Given the description of an element on the screen output the (x, y) to click on. 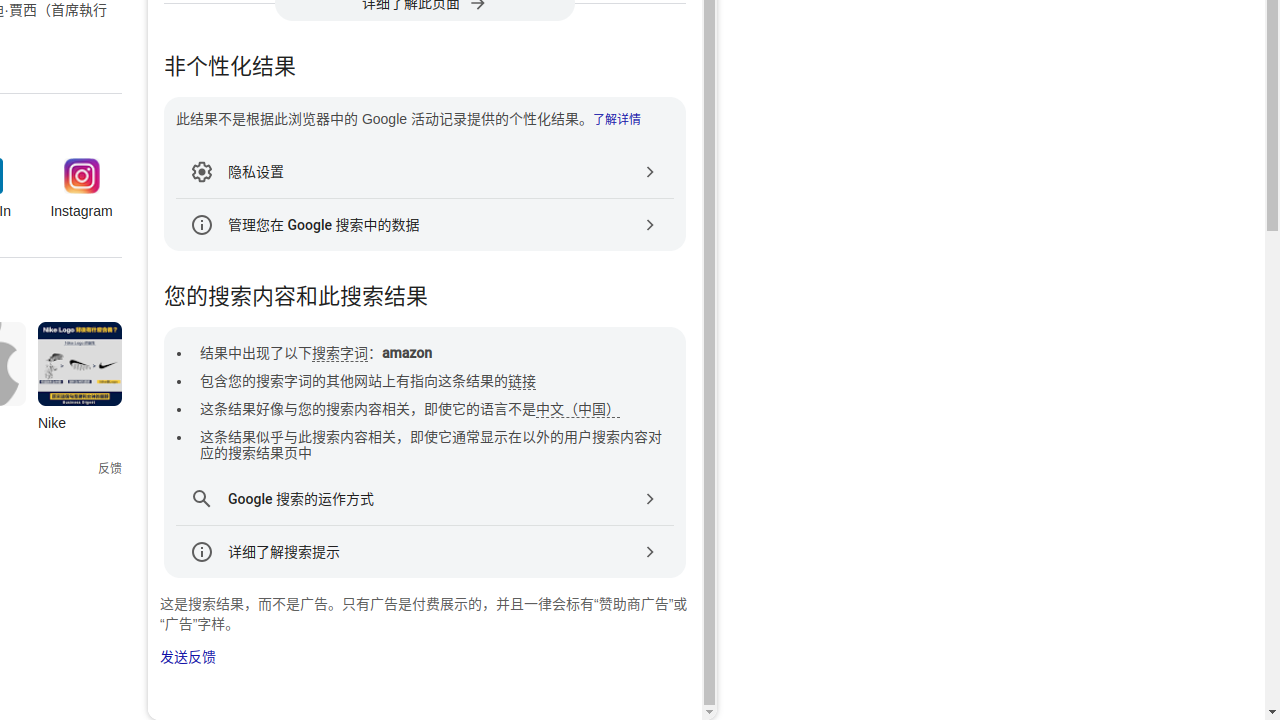
Nike Element type: link (80, 382)
详细了解搜索提示 Element type: link (425, 552)
Google 搜索的运作方式 Element type: link (425, 499)
Instagram Element type: link (81, 189)
了解详情 Element type: link (616, 120)
